Given the description of an element on the screen output the (x, y) to click on. 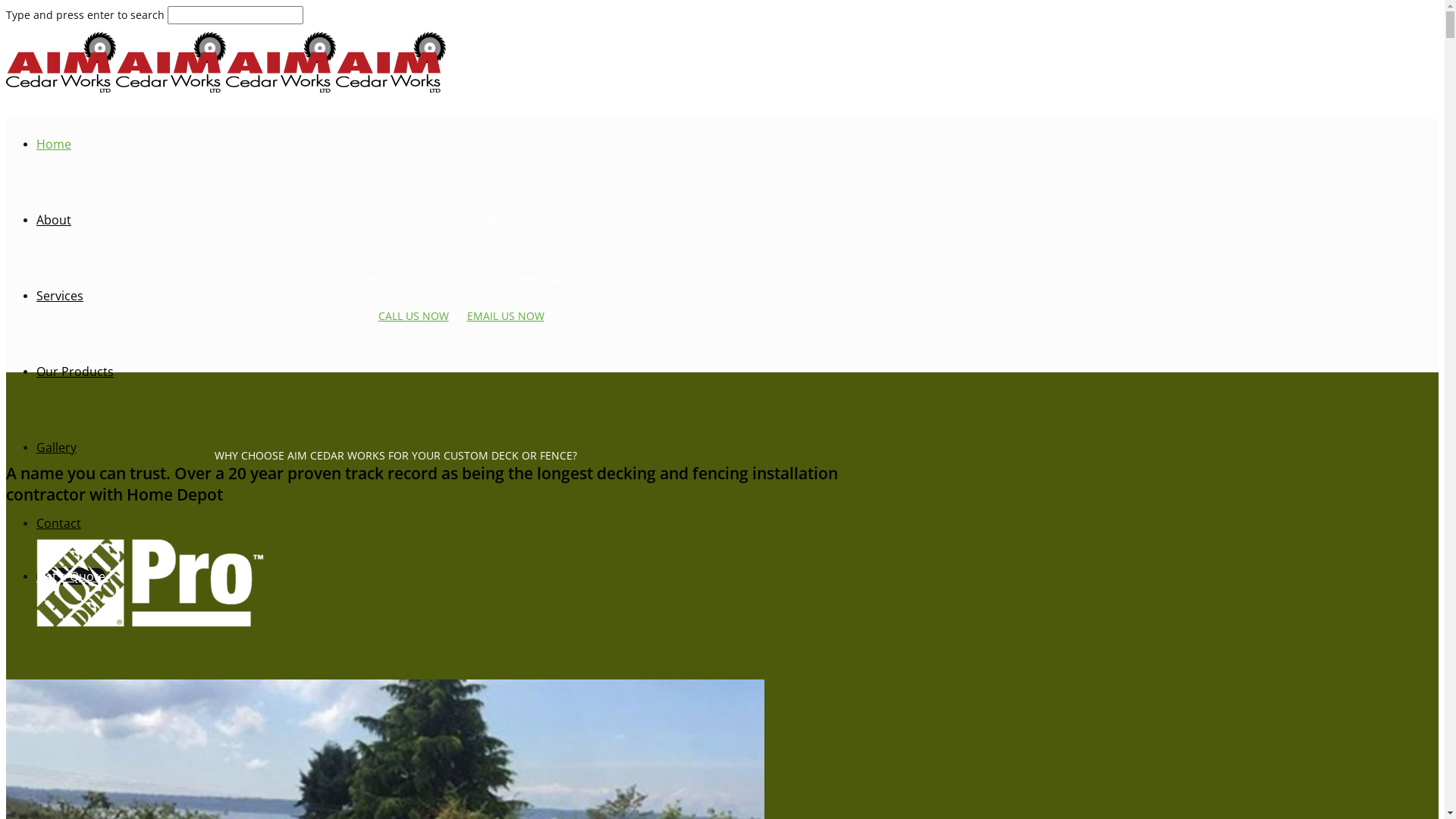
Contact Element type: text (58, 522)
CALL US NOW Element type: text (412, 315)
Our Products Element type: text (74, 371)
EMAIL US NOW Element type: text (505, 315)
Gallery Element type: text (56, 447)
Get a Quote Element type: text (70, 575)
Services Element type: text (59, 295)
About Element type: text (53, 219)
Home Element type: text (53, 143)
